Given the description of an element on the screen output the (x, y) to click on. 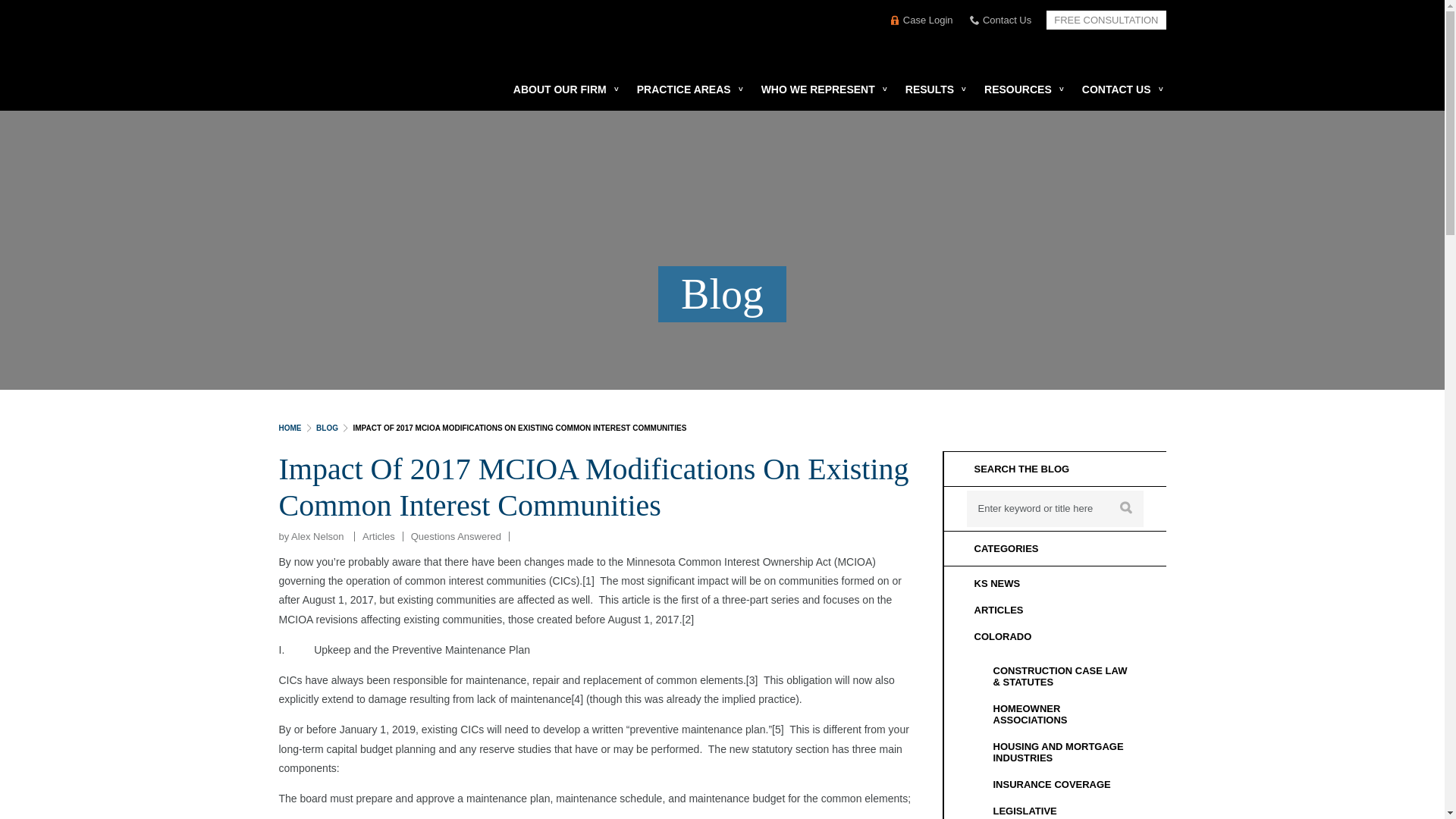
Contact Us (1000, 19)
KS NEWS (1054, 583)
HOME (290, 428)
KerraneStorz (432, 40)
ABOUT OUR FIRM (559, 88)
HOMEOWNER ASSOCIATIONS (1063, 714)
BLOG (326, 428)
LEGISLATIVE (1063, 808)
RESULTS (929, 88)
COLORADO (1054, 636)
